Given the description of an element on the screen output the (x, y) to click on. 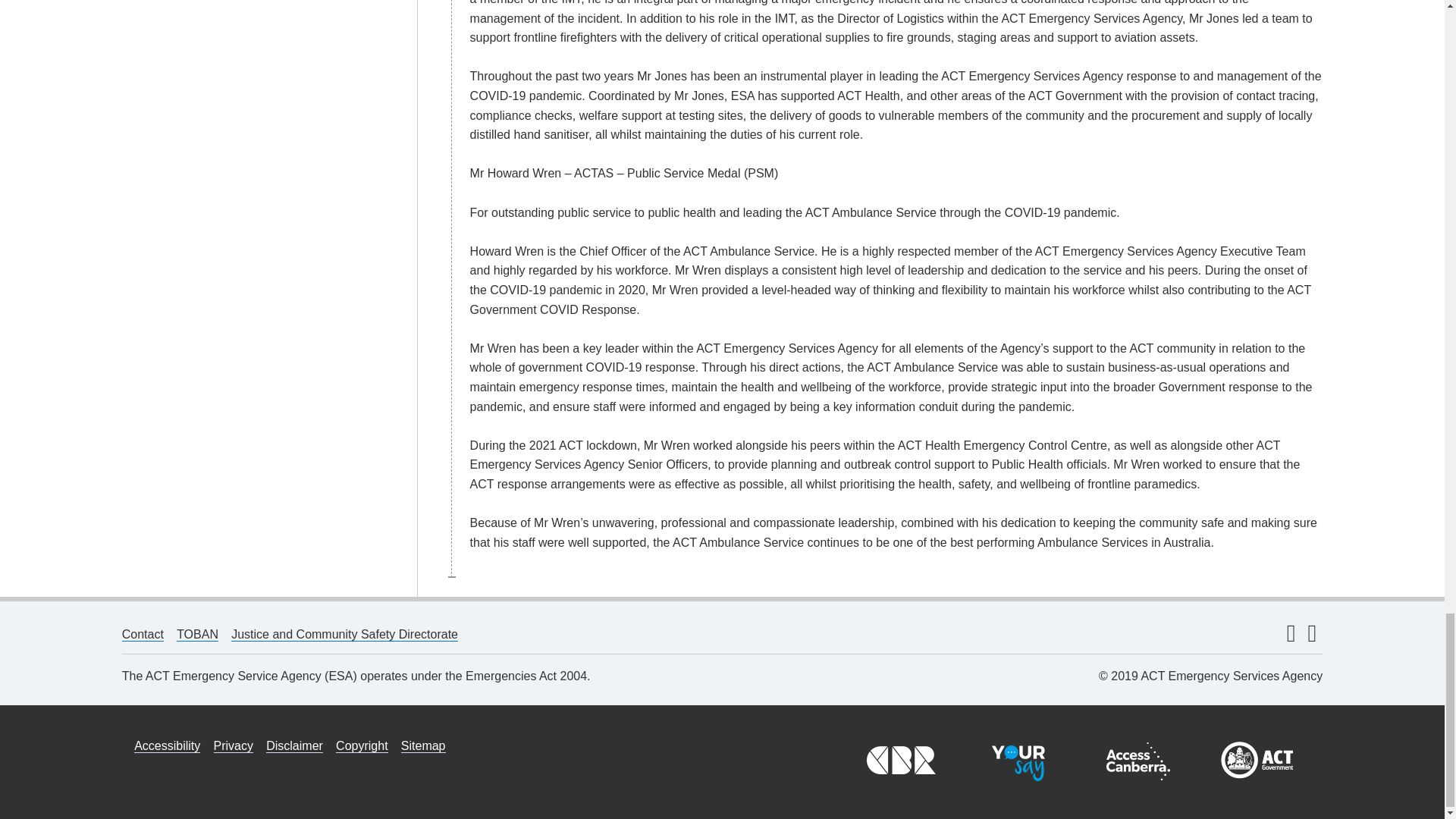
Your Say (1018, 760)
Link to copyright (361, 745)
Canberra (898, 760)
Link to accessibility (166, 745)
Access Canberra (1137, 760)
Link to privacy policy (233, 745)
ACT Government (1257, 760)
Link to disclaimer (294, 745)
